Given the description of an element on the screen output the (x, y) to click on. 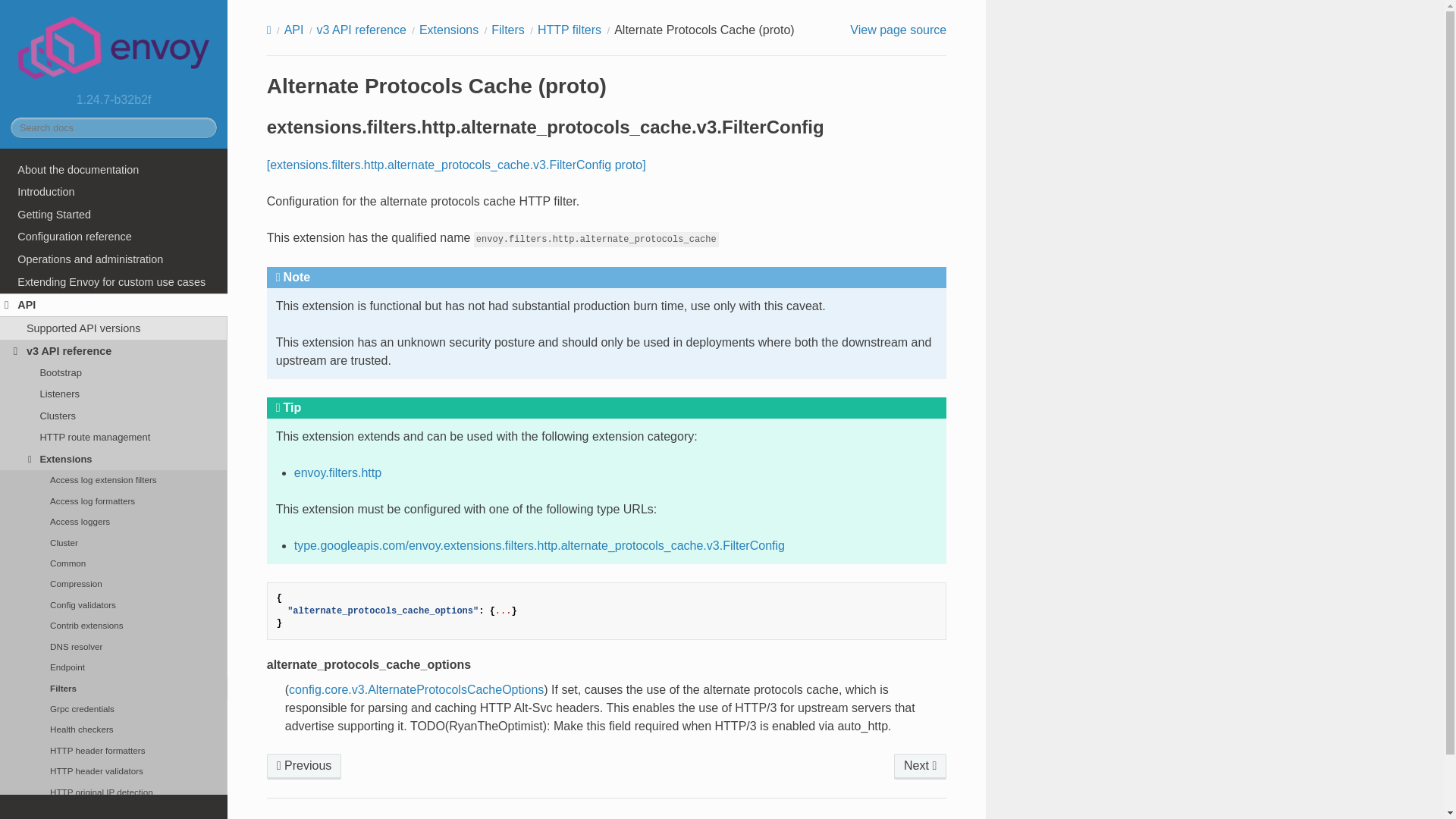
Access log extension filters (113, 480)
Access loggers (113, 521)
Config validators (113, 604)
Getting Started (113, 214)
Filters (113, 688)
Grpc credentials (113, 708)
HTTP route management (113, 436)
Cluster (113, 542)
v3 API reference (113, 350)
About the documentation (113, 169)
Extending Envoy for custom use cases (113, 282)
API (113, 305)
HTTP header formatters (113, 750)
Access log formatters (113, 500)
HTTP original IP detection (113, 792)
